Given the description of an element on the screen output the (x, y) to click on. 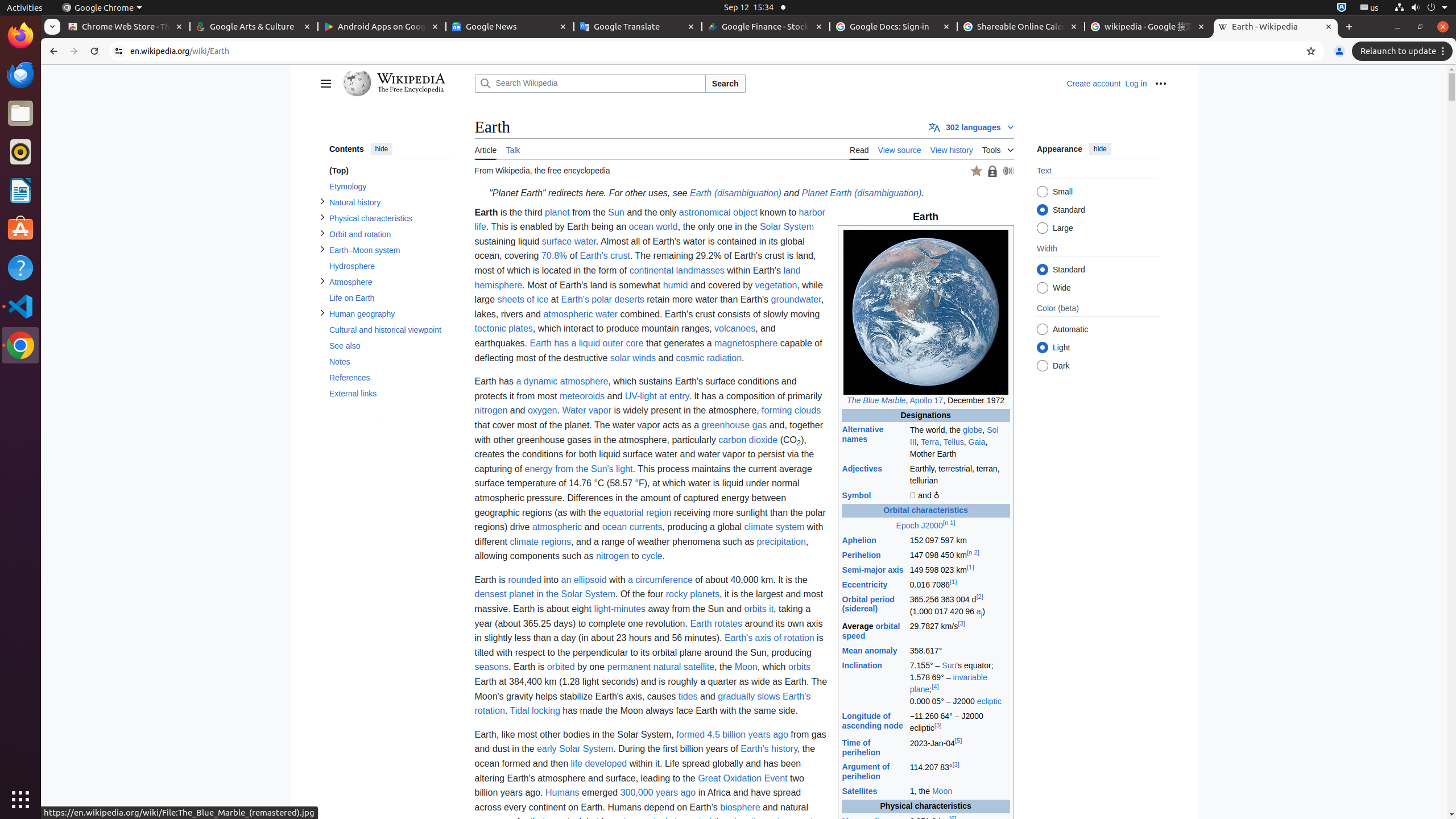
biosphere Element type: link (740, 806)
volcanoes Element type: link (734, 328)
Talk Element type: link (512, 148)
Google Chrome Element type: menu (101, 7)
Files Element type: push-button (20, 113)
